Given the description of an element on the screen output the (x, y) to click on. 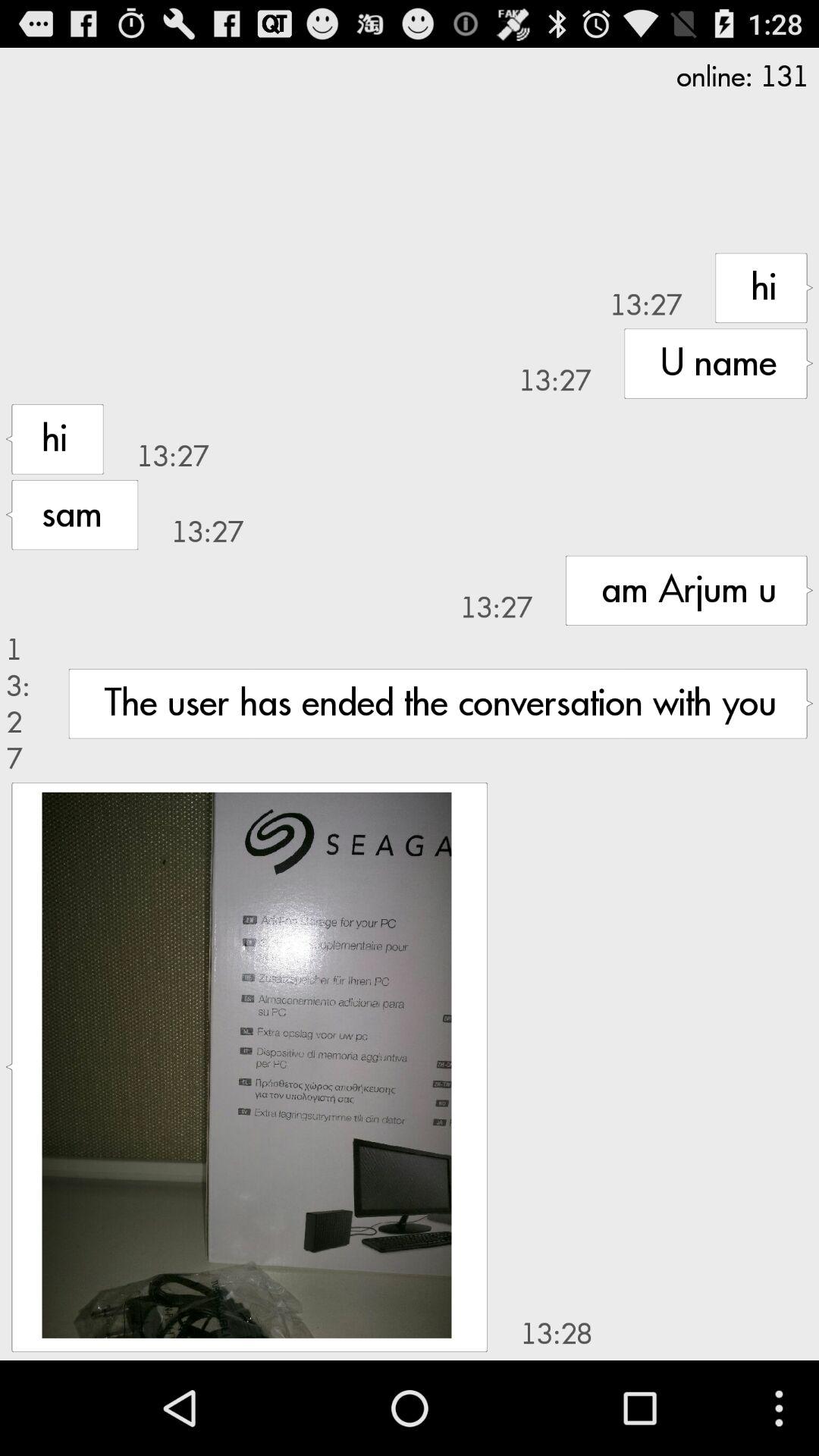
press the icon at the bottom left corner (246, 1065)
